Given the description of an element on the screen output the (x, y) to click on. 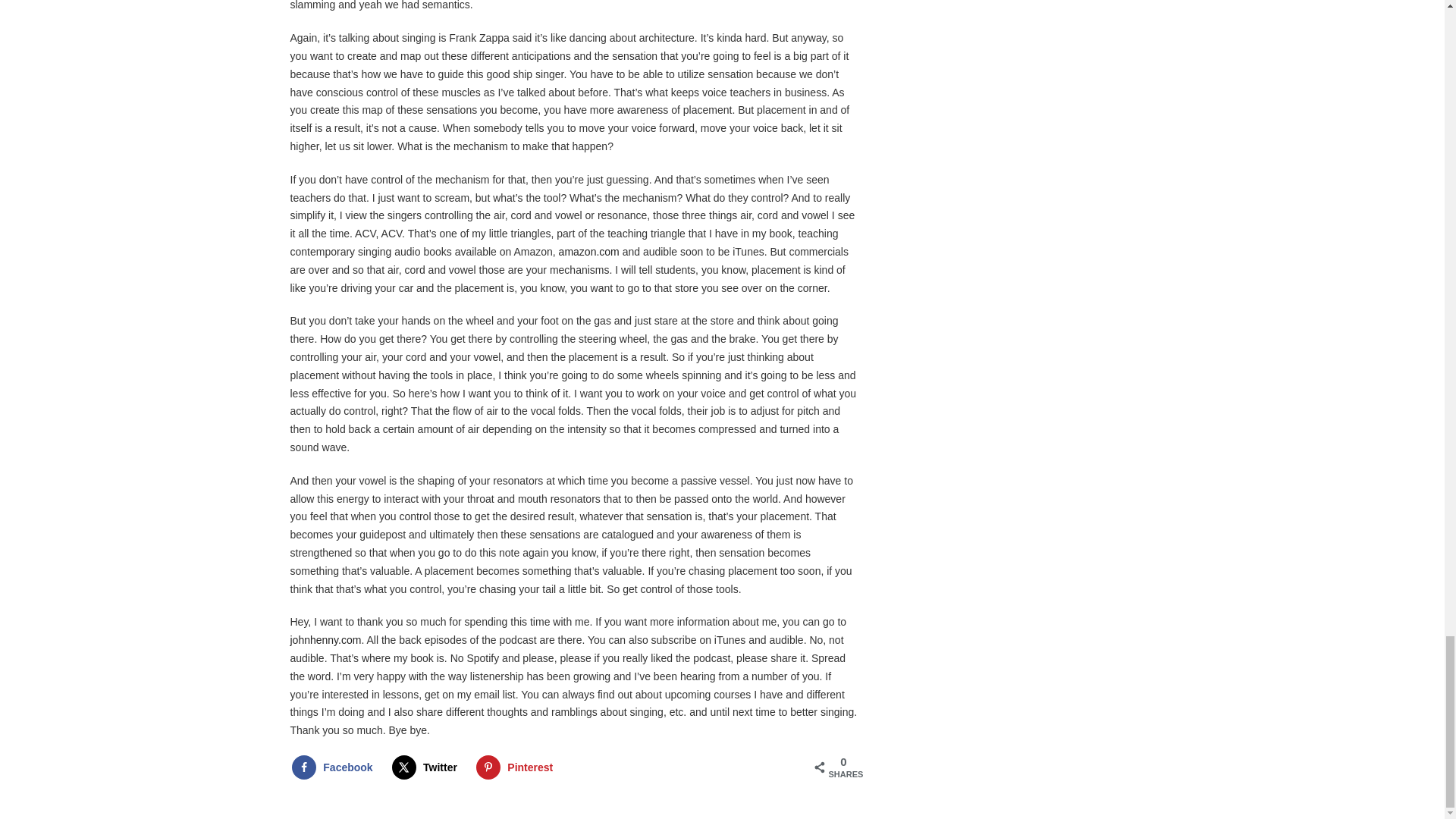
Save to Pinterest (517, 767)
Share on X (427, 767)
Share on Facebook (335, 767)
